Given the description of an element on the screen output the (x, y) to click on. 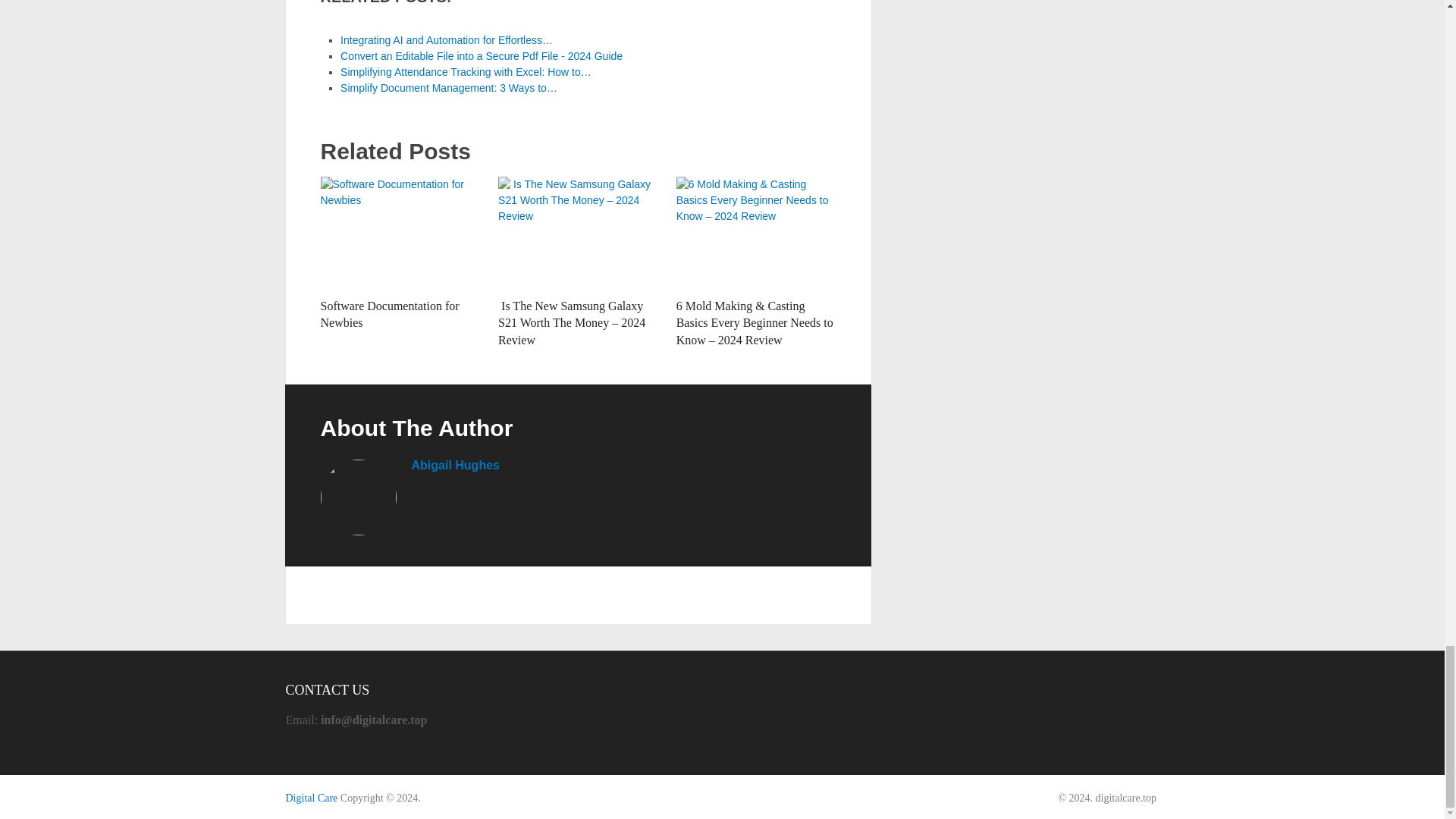
Software Documentation for Newbies (389, 314)
Software Documentation for Newbies (389, 314)
 Tech Help, News and Reviews 2024 (311, 797)
Software Documentation for Newbies (400, 233)
Abigail Hughes (454, 464)
Convert an Editable File into a Secure Pdf File - 2024 Guide (481, 55)
